Given the description of an element on the screen output the (x, y) to click on. 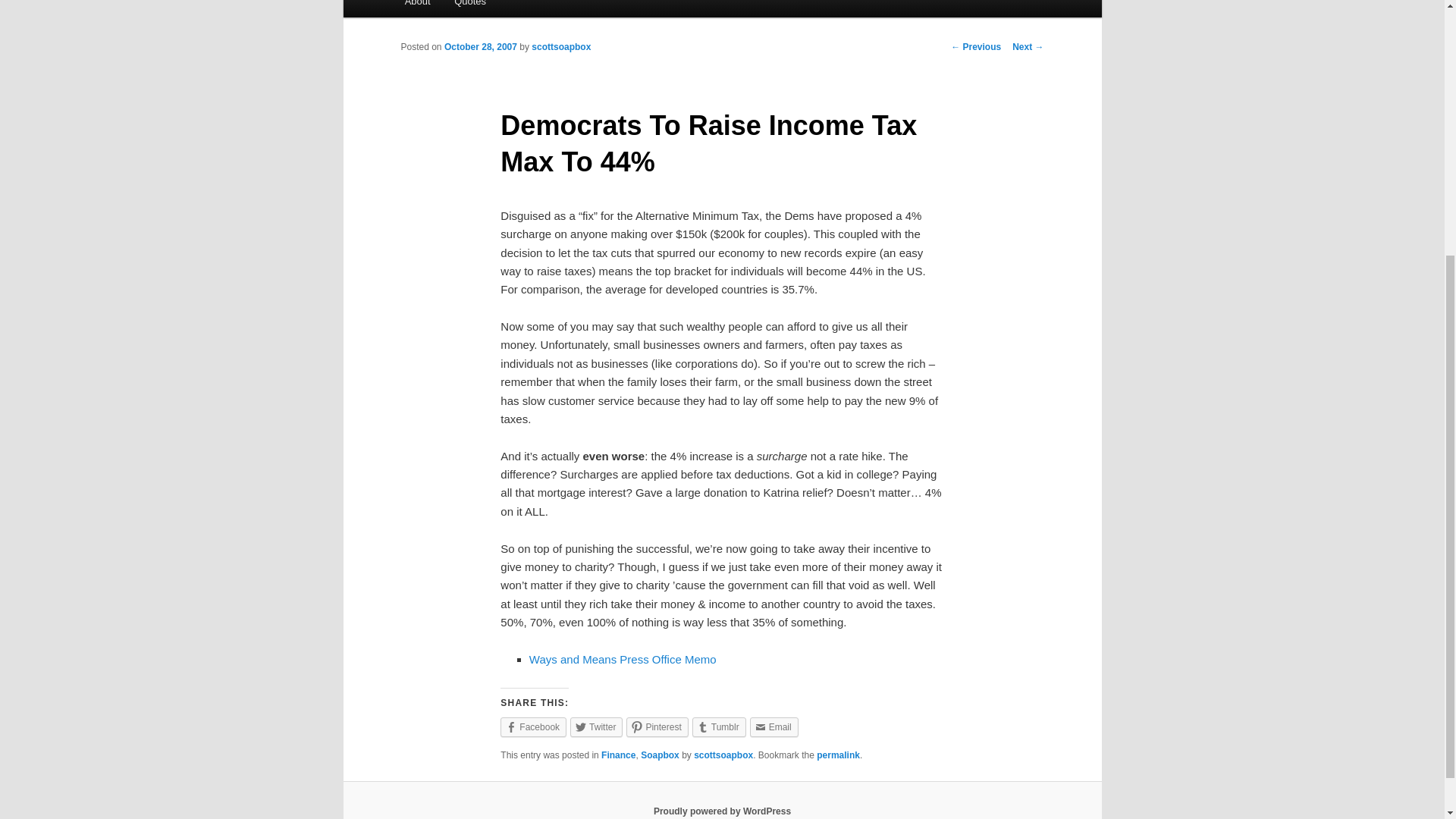
Semantic Personal Publishing Platform (721, 810)
Finance (617, 755)
Tumblr (719, 727)
Email (773, 727)
scottsoapbox (723, 755)
Twitter (596, 727)
Proudly powered by WordPress (721, 810)
Click to share on Pinterest (656, 727)
Soapbox (659, 755)
Click to email this to a friend (773, 727)
